Given the description of an element on the screen output the (x, y) to click on. 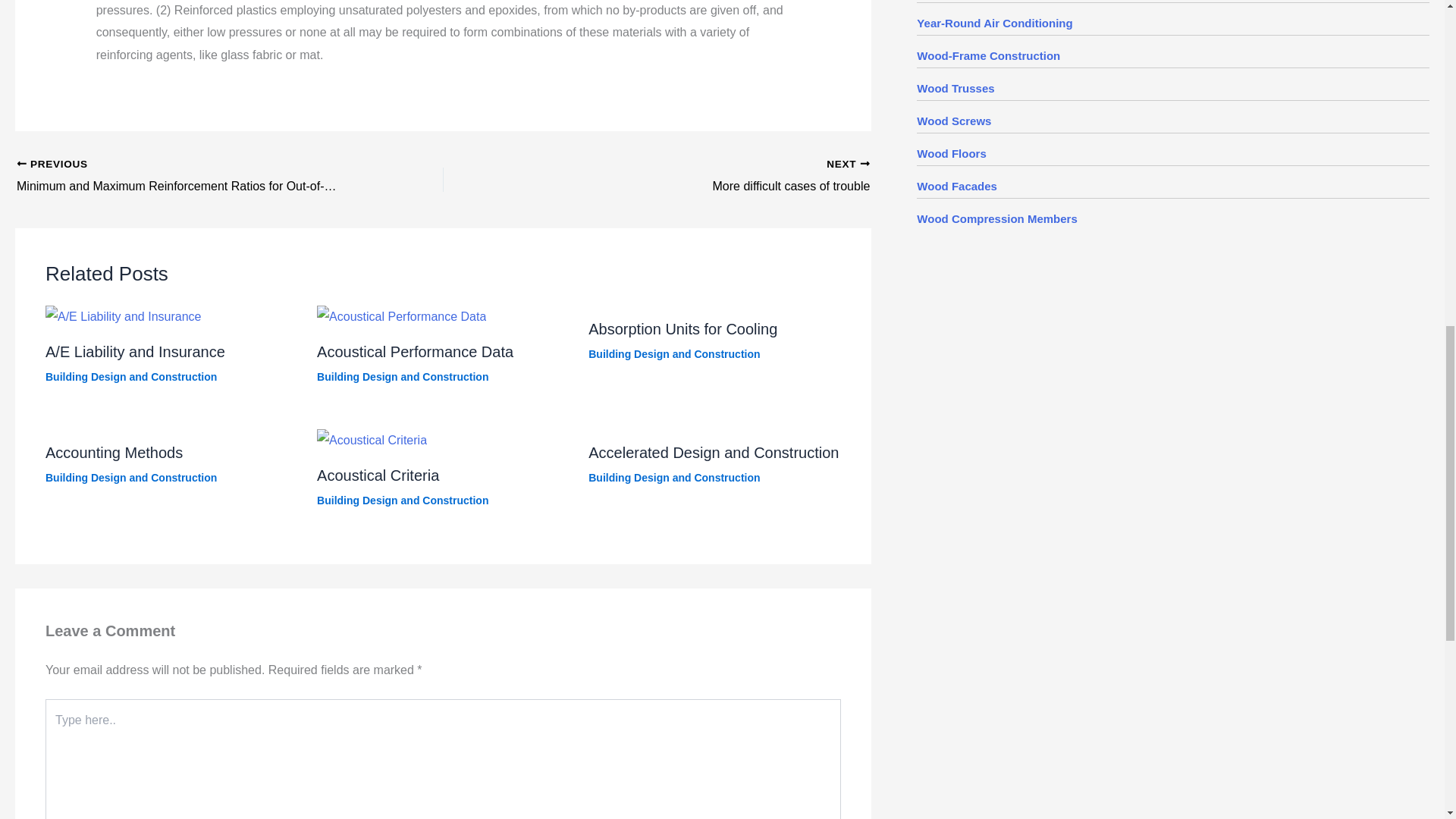
More difficult cases of trouble (698, 176)
Wood Floors (951, 153)
Year-Round Air Conditioning (994, 22)
Wood-Frame Construction (988, 55)
Wood Screws (954, 120)
Wood Trusses (955, 88)
